Given the description of an element on the screen output the (x, y) to click on. 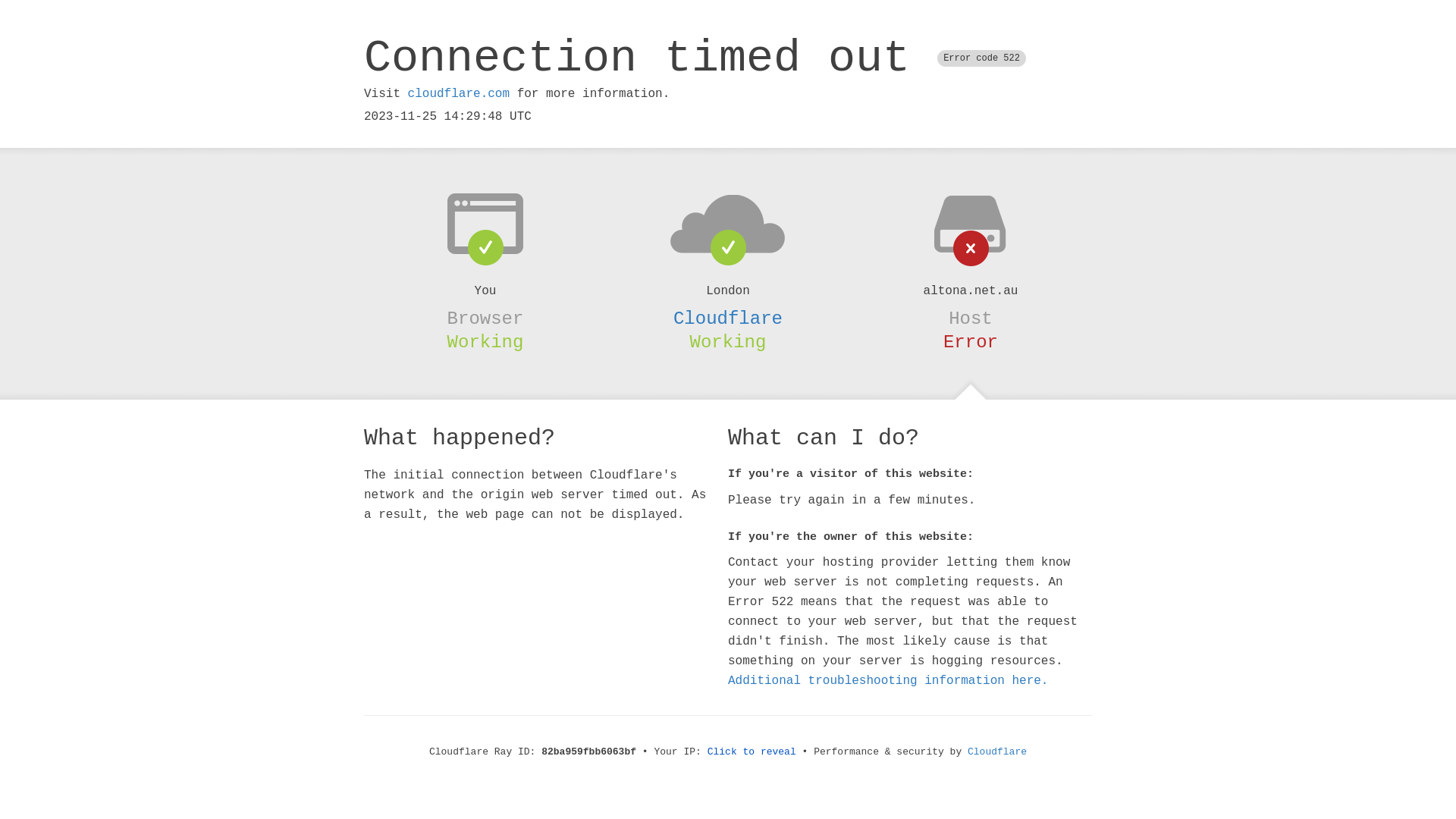
Click to reveal Element type: text (751, 751)
Cloudflare Element type: text (996, 751)
Cloudflare Element type: text (727, 318)
cloudflare.com Element type: text (458, 93)
Additional troubleshooting information here. Element type: text (888, 680)
